Given the description of an element on the screen output the (x, y) to click on. 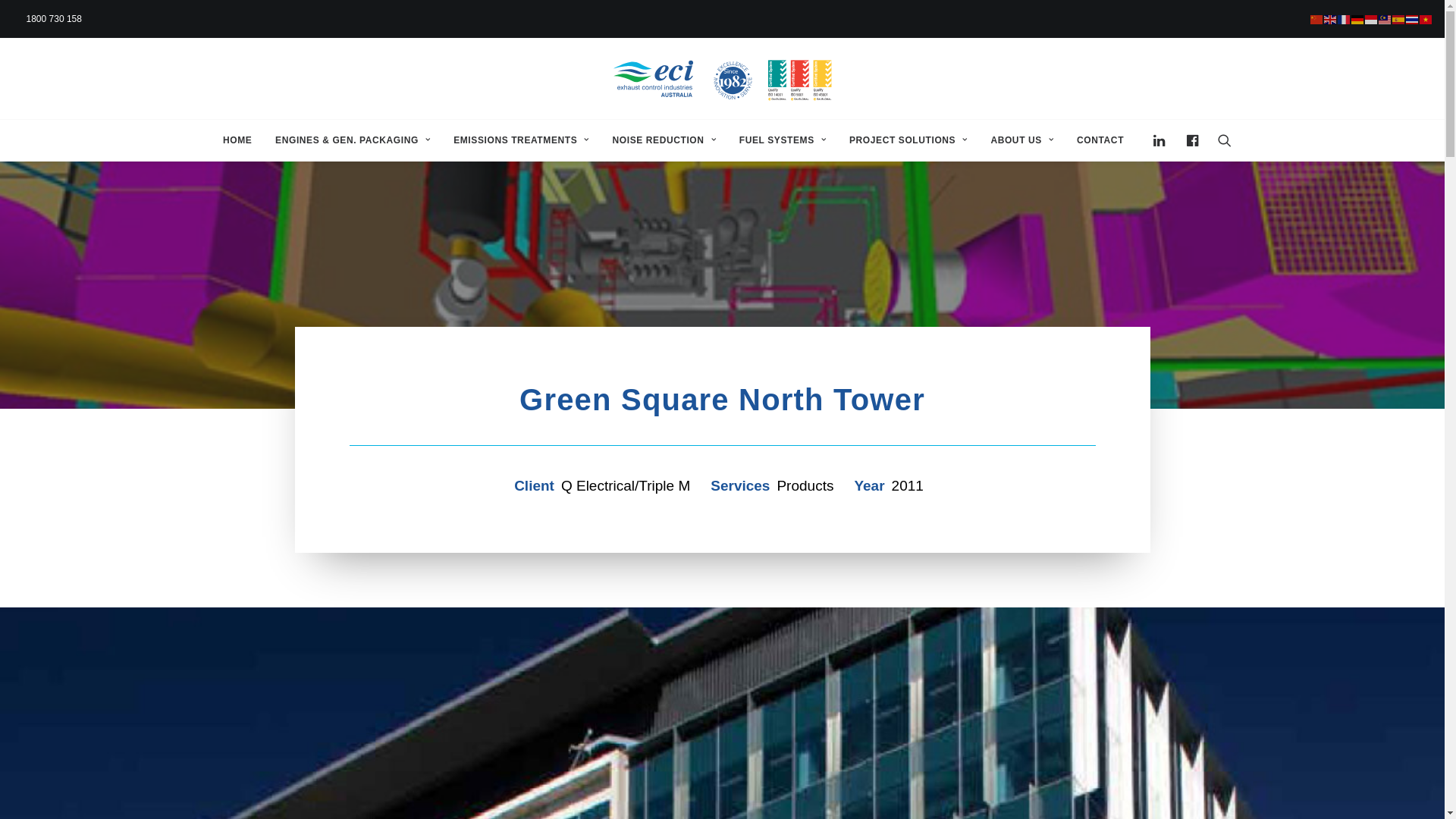
English Element type: hover (1330, 18)
ABOUT US Element type: text (1021, 139)
PROJECT SOLUTIONS Element type: text (908, 139)
Deutsch Element type: hover (1358, 18)
NOISE REDUCTION Element type: text (664, 139)
FUEL SYSTEMS Element type: text (782, 139)
Bahasa Indonesia Element type: hover (1371, 18)
CONTACT Element type: text (1094, 139)
Bahasa Melayu Element type: hover (1385, 18)
ENGINES & GEN. PACKAGING Element type: text (352, 139)
EMISSIONS TREATMENTS Element type: text (521, 139)
HOME Element type: text (237, 139)
